Given the description of an element on the screen output the (x, y) to click on. 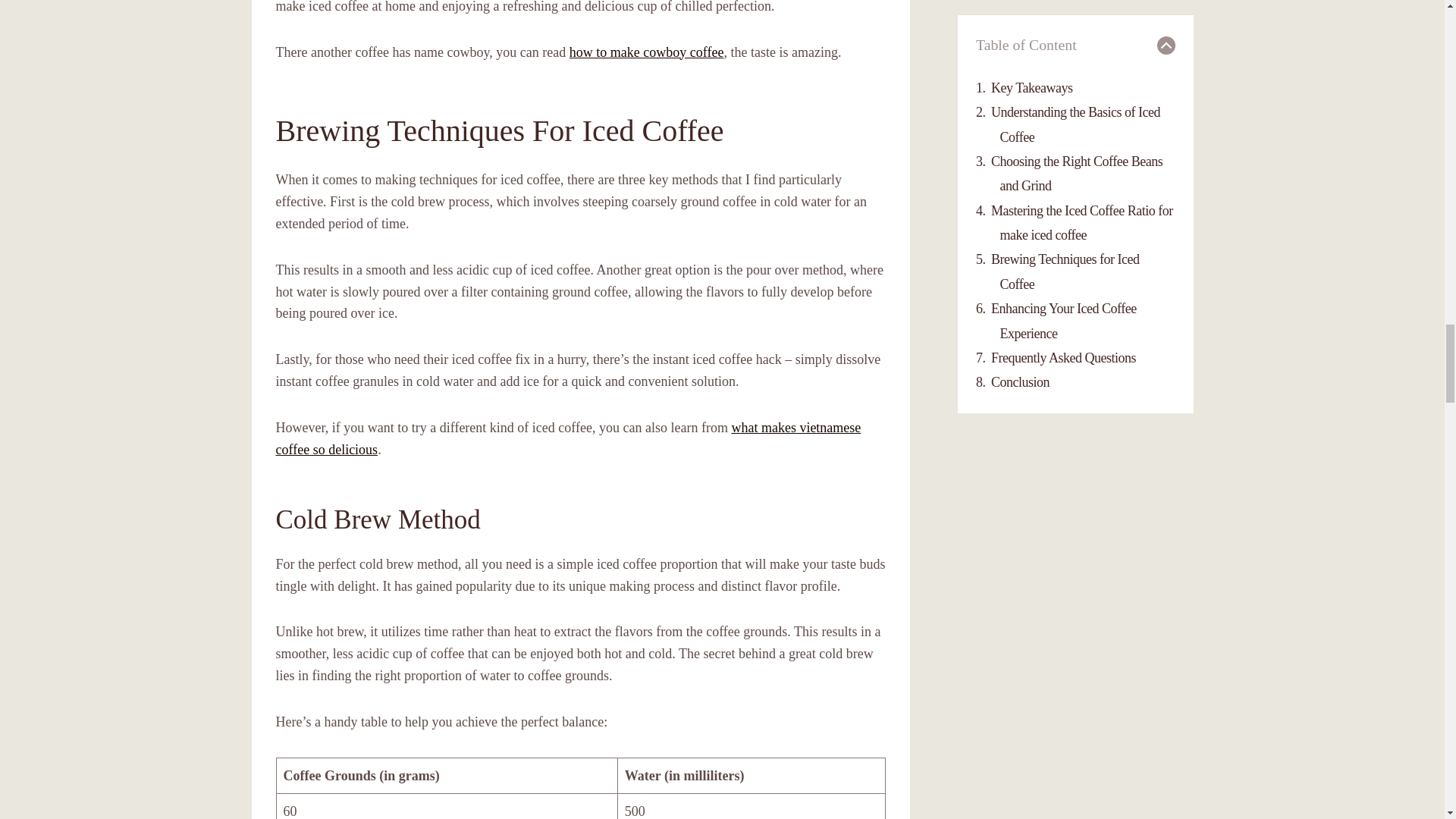
how to make cowboy coffee (646, 52)
what makes vietnamese coffee so delicious (568, 438)
